Given the description of an element on the screen output the (x, y) to click on. 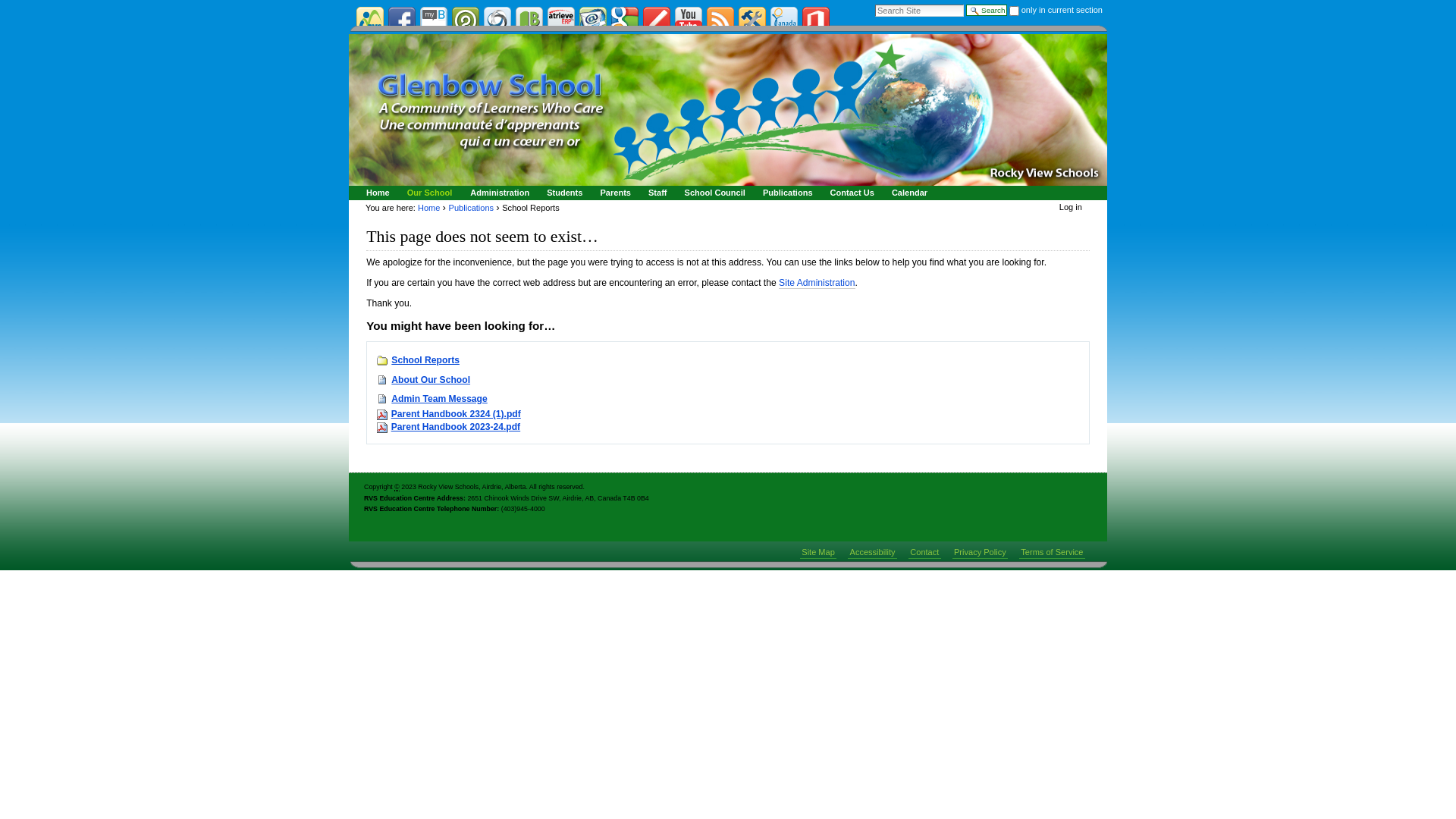
Donations Element type: hover (783, 19)
Parents Element type: text (612, 192)
Office 365 Element type: hover (815, 19)
Calendar Element type: text (906, 192)
Admin Team Message Element type: text (438, 398)
Administration Element type: text (497, 192)
Contact Element type: text (924, 552)
Contact Us Element type: text (849, 192)
Search Element type: text (986, 9)
Publications Element type: text (784, 192)
Terms of Service Element type: text (1052, 552)
Rocky View Corporate Site Element type: hover (369, 19)
YouTube Element type: hover (688, 19)
Atrieve Element type: hover (560, 19)
Parent Handbook 2324 (1).pdf Element type: text (455, 413)
Site Administration Element type: text (816, 282)
Students Element type: text (561, 192)
School Reports Element type: text (425, 359)
Home Element type: text (428, 207)
Our School Element type: text (427, 192)
Privacy Policy Element type: text (979, 552)
Publications Element type: text (470, 207)
Facebook Element type: hover (401, 19)
Accessibility Element type: text (871, 552)
Parent Handbook 2023-24.pdf Element type: text (455, 426)
Search Site Element type: hover (919, 10)
RVS Gmail Element type: hover (592, 19)
Student Blogs Element type: hover (656, 19)
Bibliovation Element type: hover (528, 19)
My Blueprint Element type: hover (433, 19)
Site Map Element type: text (818, 552)
School Cash Net Element type: hover (497, 19)
Tech Support Element type: hover (751, 19)
Home Element type: text (375, 192)
RSS Element type: hover (720, 19)
Log in Element type: text (1070, 206)
Power School Element type: hover (465, 19)
About Our School Element type: text (430, 379)
School Council Element type: text (712, 192)
Google Element type: hover (624, 19)
Staff Element type: text (655, 192)
